Given the description of an element on the screen output the (x, y) to click on. 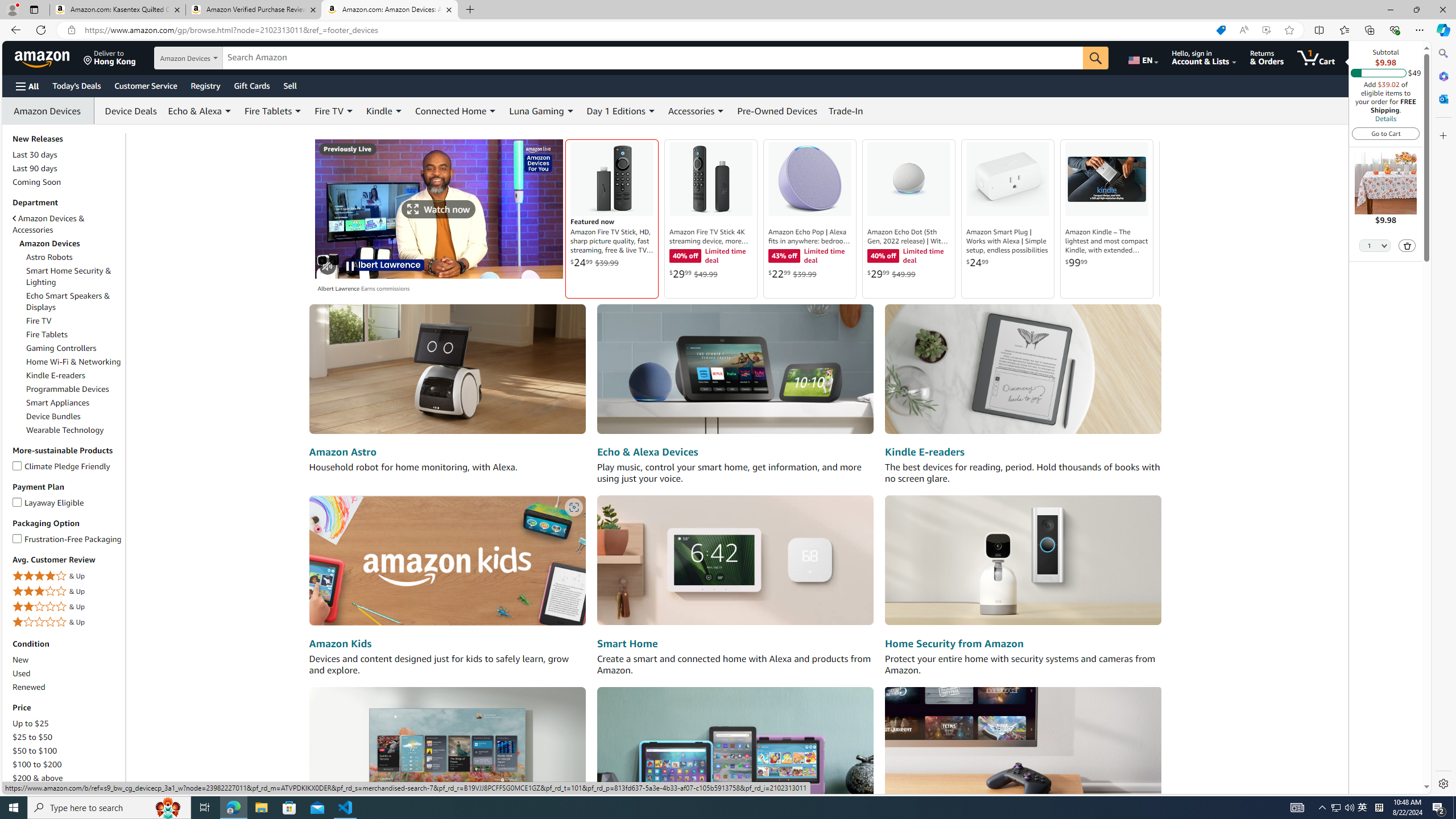
Trade-In (845, 110)
Echo & Alexa Devices (647, 451)
Climate Pledge FriendlyClimate Pledge Friendly (67, 465)
Device Bundles (74, 415)
Frustration-Free PackagingFrustration-Free Packaging (67, 538)
Used (67, 672)
Astro Robots (49, 257)
Coming Soon (37, 181)
Up to $25 (31, 723)
Amazon Kids (339, 643)
Home Security devices (1022, 560)
Fire Tablet devices (734, 751)
Astro Robots (74, 256)
Trade-In (845, 110)
Amazon Astro (342, 451)
